Given the description of an element on the screen output the (x, y) to click on. 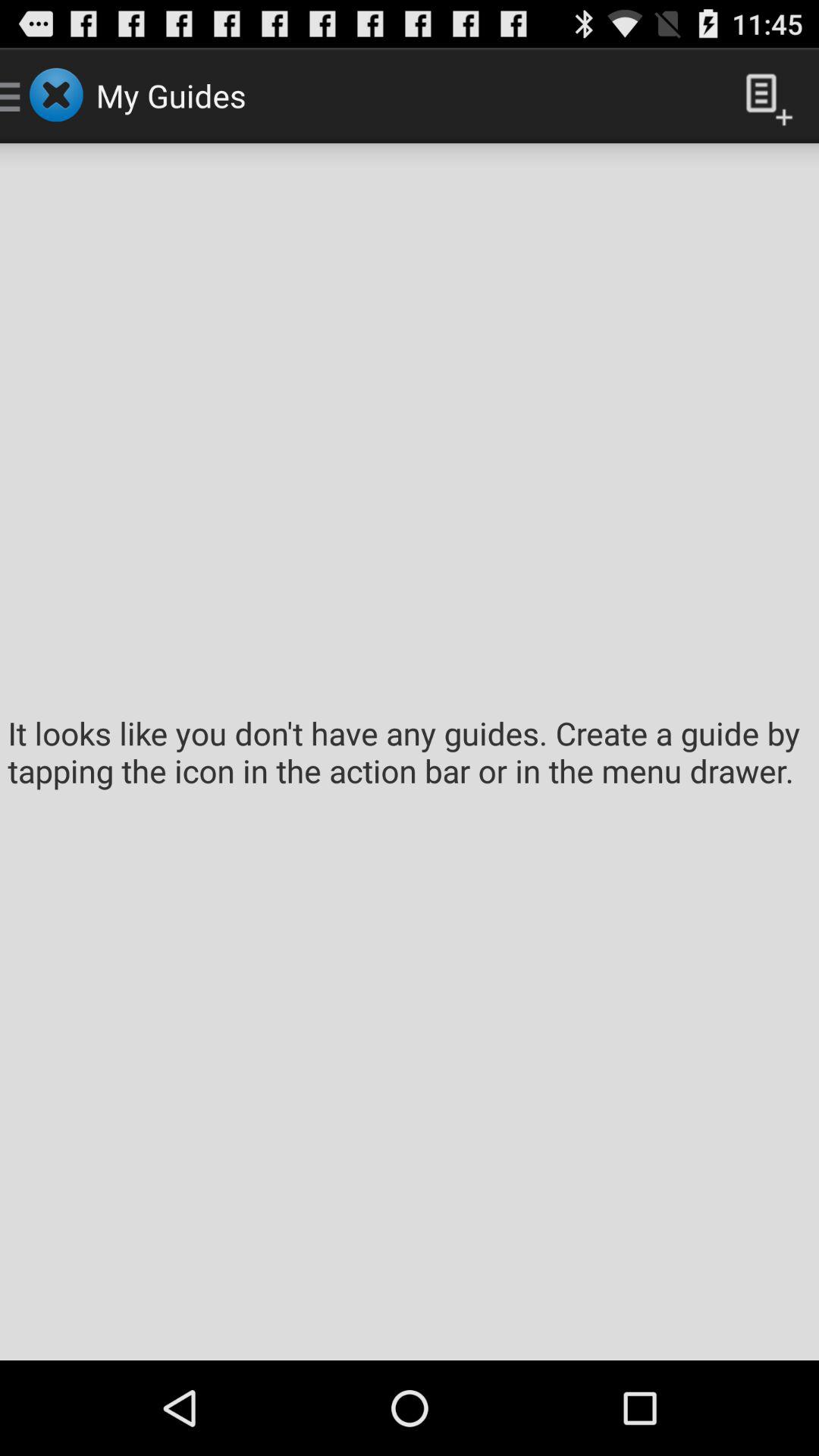
open item at the top right corner (763, 95)
